Given the description of an element on the screen output the (x, y) to click on. 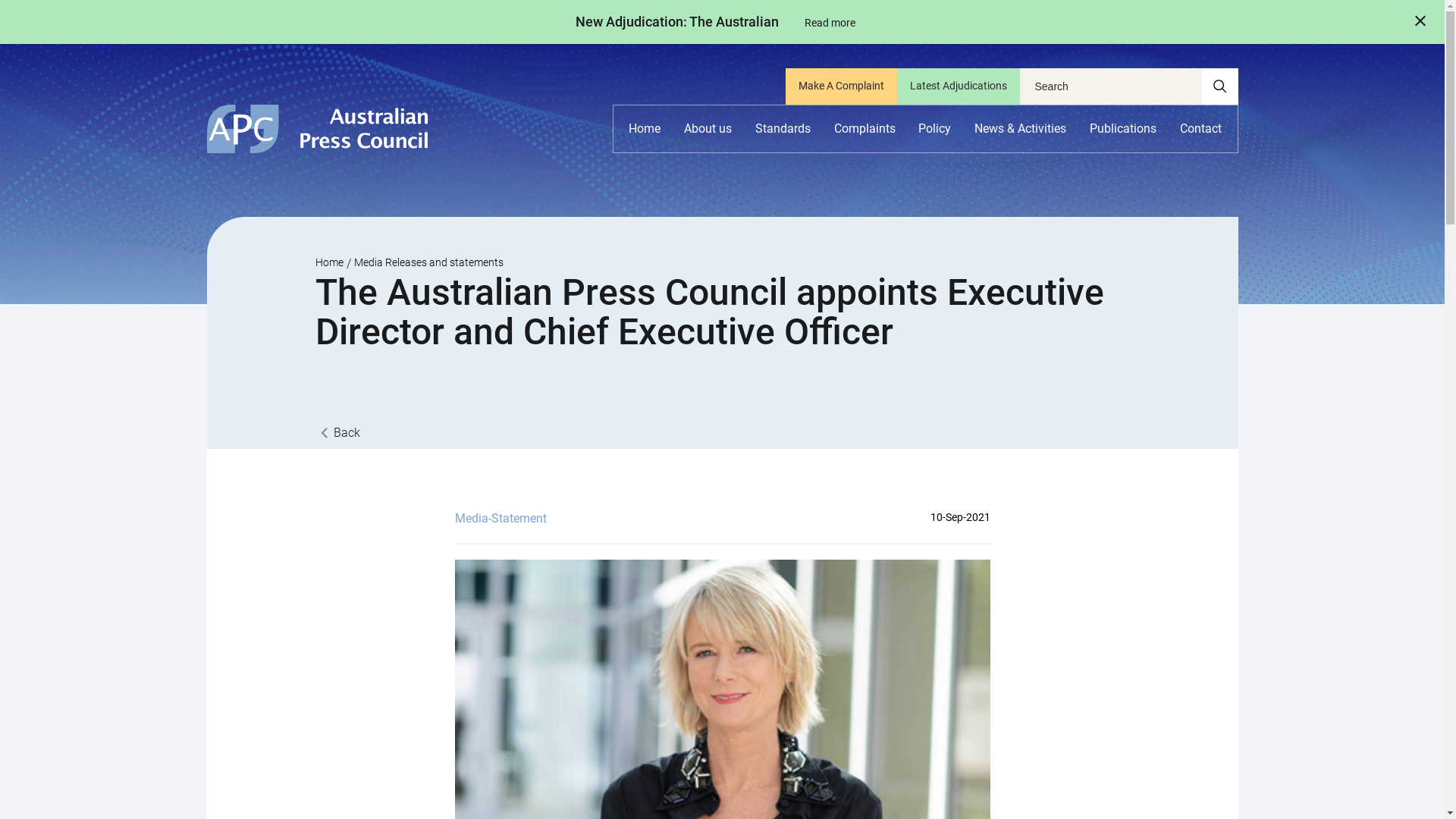
. Element type: text (1219, 86)
News & Activities Element type: text (1019, 128)
Latest Adjudications Element type: text (957, 86)
About us Element type: text (707, 128)
Complaints Element type: text (864, 128)
Policy Element type: text (934, 128)
Publications Element type: text (1123, 128)
New Adjudication: The Australian Element type: text (676, 21)
Media Releases and statements Element type: text (427, 262)
Home Element type: text (329, 262)
Standards Element type: text (782, 128)
Home Element type: text (644, 128)
Read more Element type: text (830, 22)
Back Element type: text (337, 432)
Contact Element type: text (1200, 128)
Make A Complaint Element type: text (841, 86)
